Given the description of an element on the screen output the (x, y) to click on. 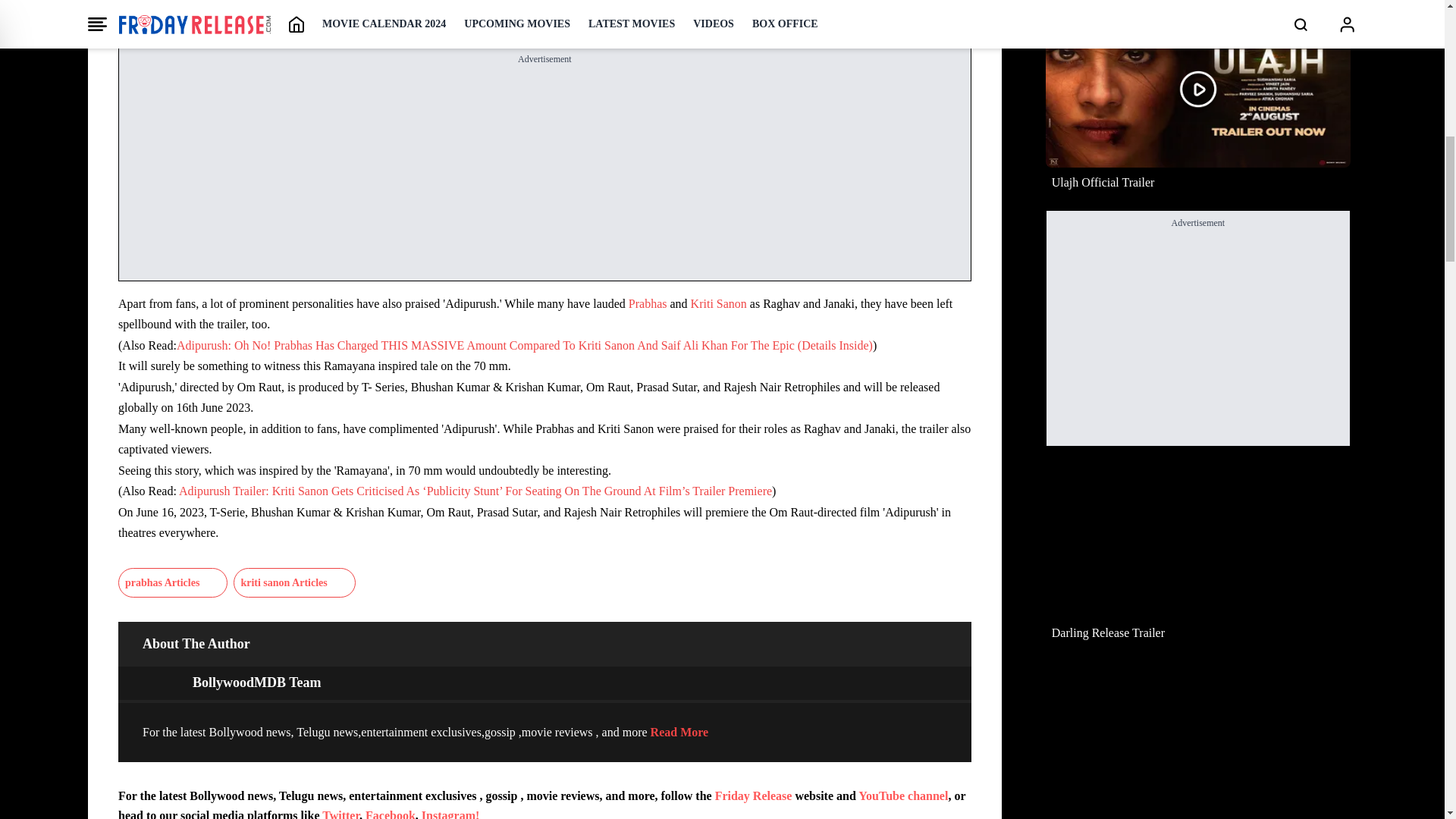
Facebook Page (389, 814)
Instagram Page (450, 814)
Twitter Page (340, 814)
